Given the description of an element on the screen output the (x, y) to click on. 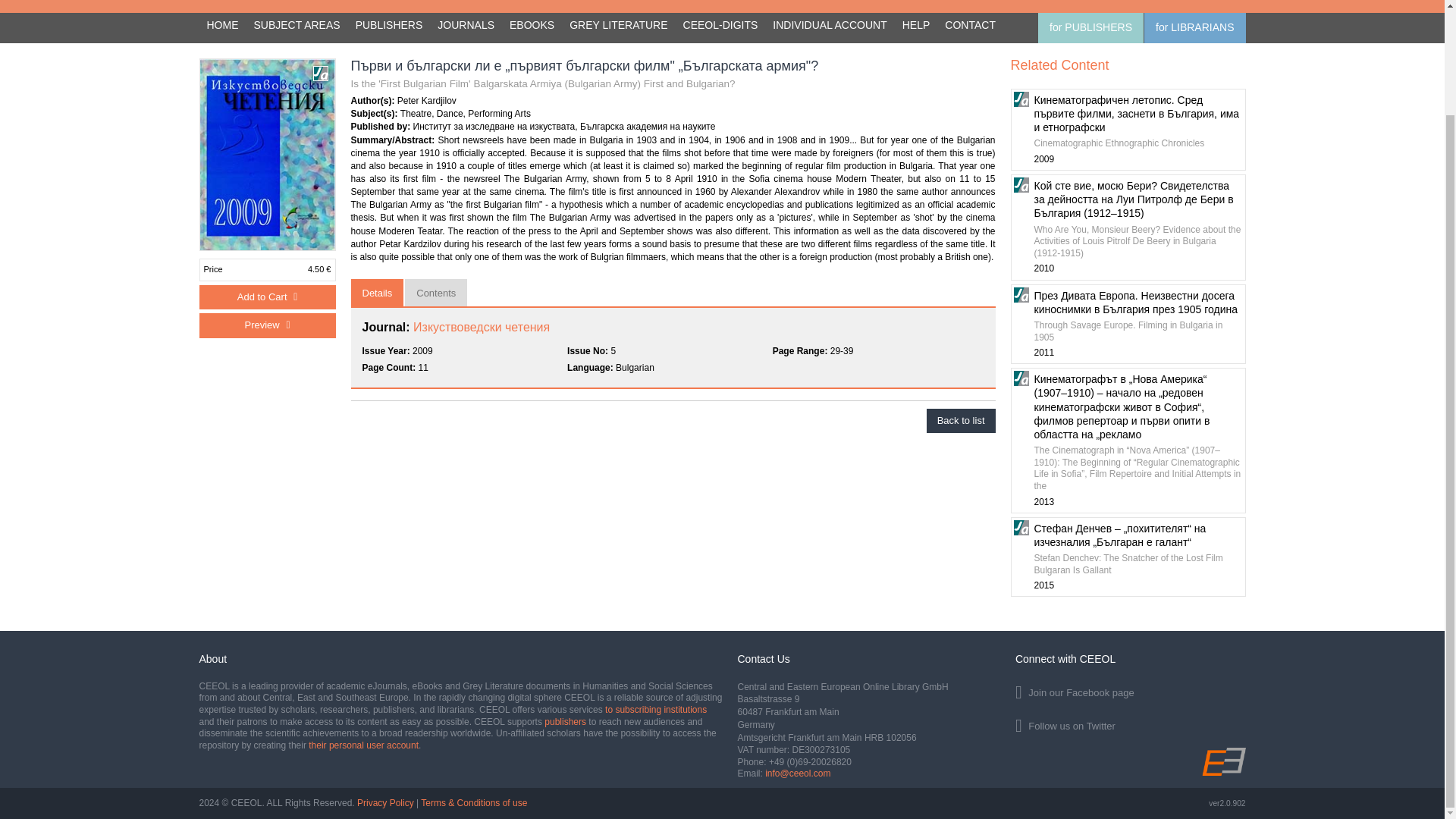
Article (320, 73)
Add to Cart (266, 297)
GREY LITERATURE (618, 25)
SUBJECT AREAS (296, 25)
Preview (266, 325)
their personal user account (363, 745)
Join our Facebook page (1130, 689)
Add to Cart (266, 297)
Privacy Policy (384, 802)
Back to list (960, 421)
Contents (435, 292)
Twitter (1130, 723)
HELP (916, 25)
CONTACT (970, 25)
CEEOL-DIGITS (720, 25)
